Given the description of an element on the screen output the (x, y) to click on. 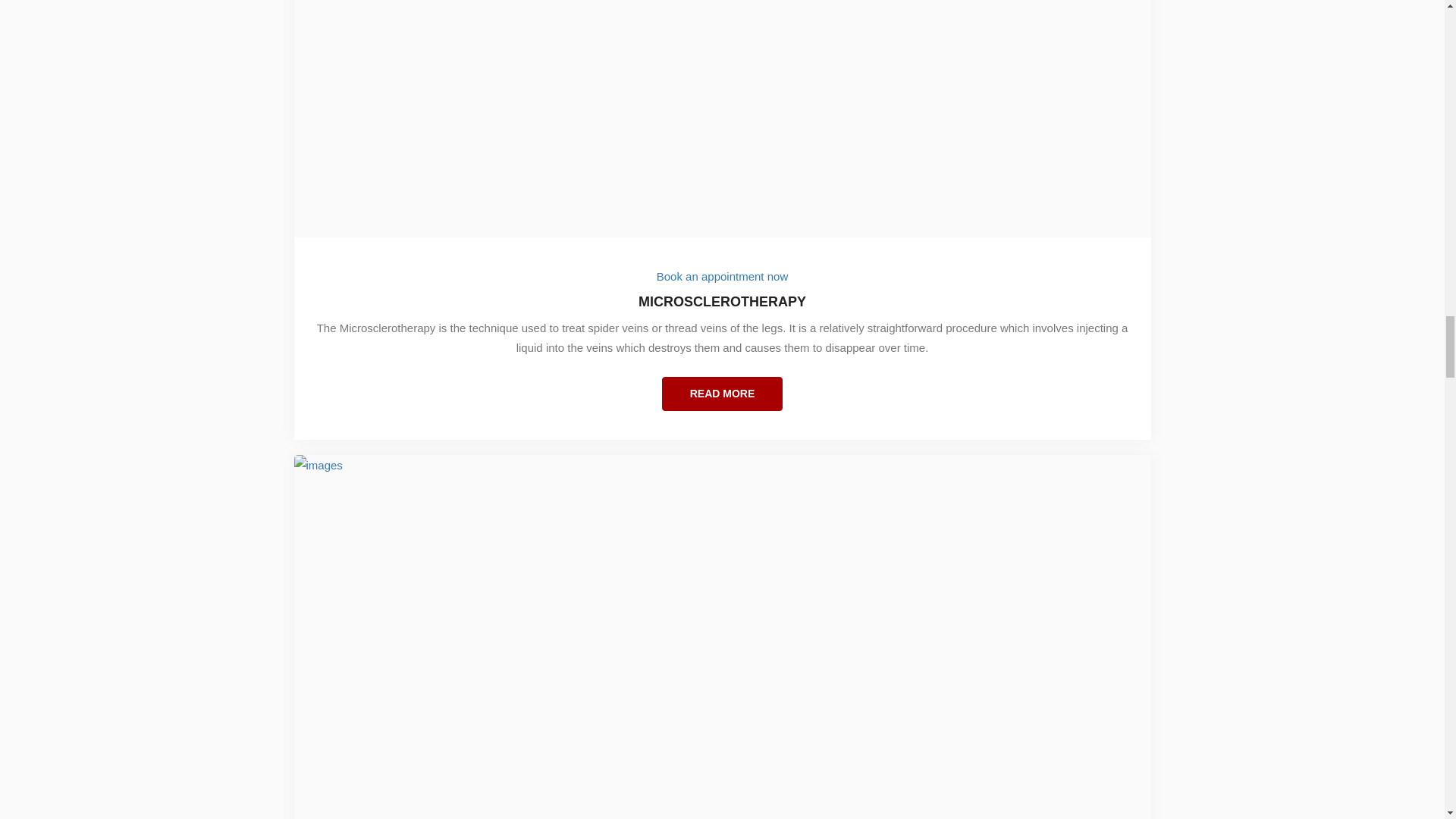
Book an appointment now (721, 276)
MICROSCLEROTHERAPY (722, 310)
READ MORE (722, 393)
